Given the description of an element on the screen output the (x, y) to click on. 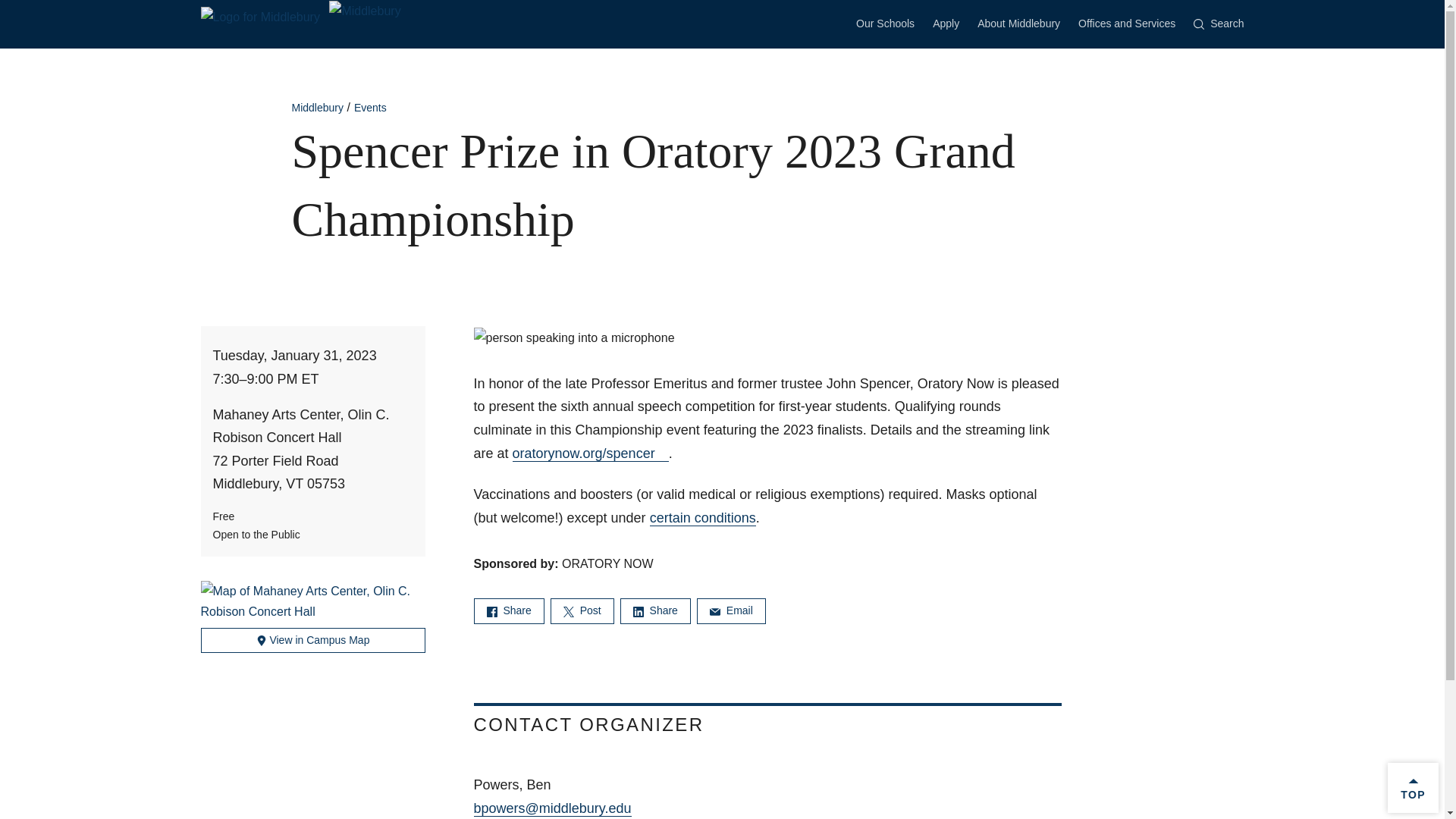
Share on LinkedIn (655, 610)
About Middlebury (1017, 23)
Search (1218, 23)
Post to X (582, 610)
View in Campus Map (312, 640)
Share (655, 610)
Share via email (731, 610)
Middlebury (300, 10)
Offices and Services (1126, 23)
certain conditions (702, 518)
Post (582, 610)
Share on Facebook (508, 610)
Our Schools (885, 23)
Events (370, 107)
